Given the description of an element on the screen output the (x, y) to click on. 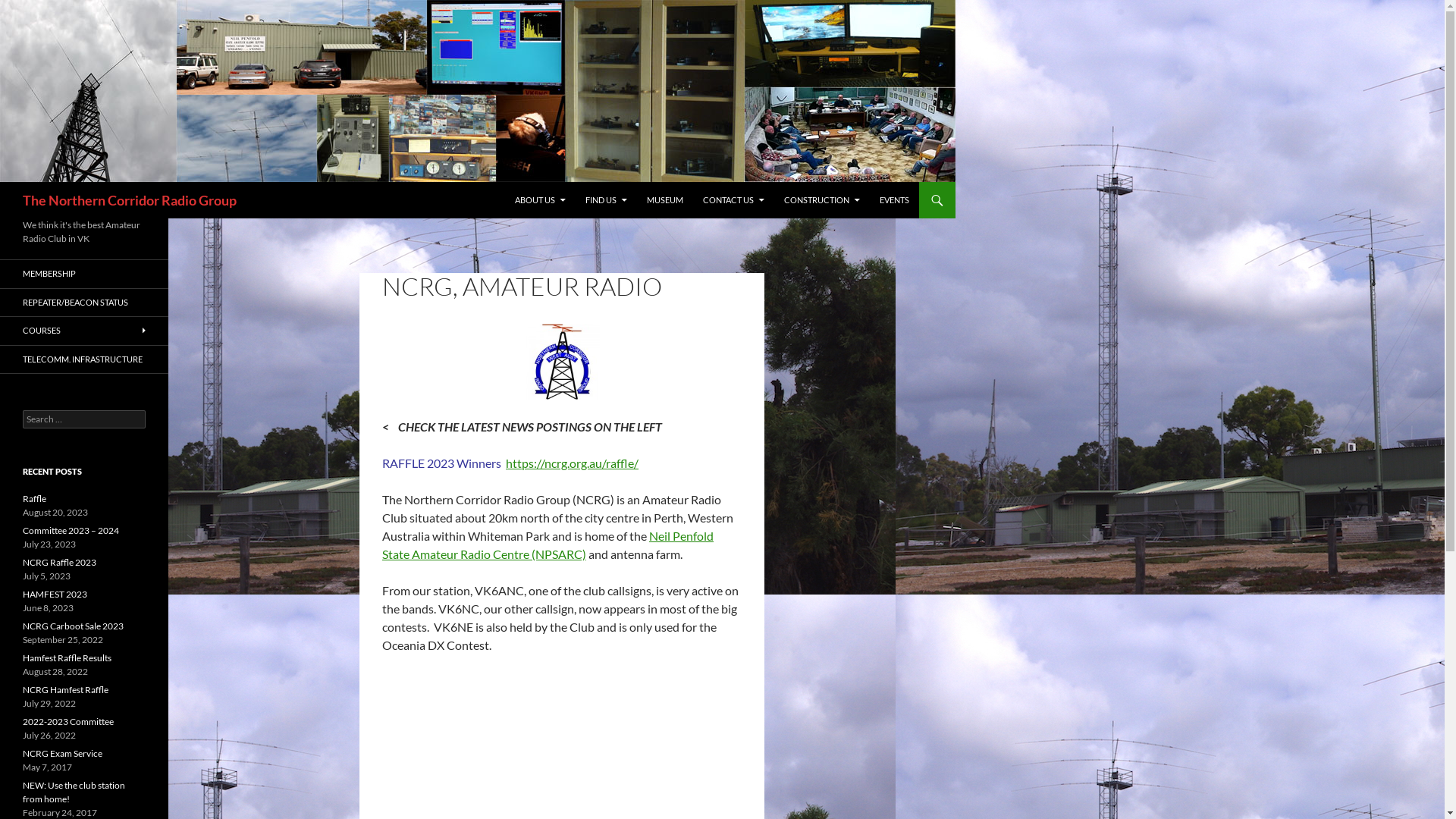
CONSTRUCTION Element type: text (822, 200)
COURSES Element type: text (84, 330)
MUSEUM Element type: text (664, 200)
NCRG Exam Service Element type: text (62, 753)
MEMBERSHIP Element type: text (84, 274)
HAMFEST 2023 Element type: text (54, 593)
2022-2023 Committee Element type: text (67, 721)
NEW: Use the club station from home! Element type: text (73, 791)
Hamfest Raffle Results Element type: text (66, 657)
Search Element type: text (3, 181)
FIND US Element type: text (606, 200)
The Northern Corridor Radio Group Element type: text (129, 200)
EVENTS Element type: text (894, 200)
Search Element type: text (29, 9)
NCRG Hamfest Raffle Element type: text (65, 689)
Neil Penfold State Amateur Radio Centre (NPSARC) Element type: text (547, 544)
REPEATER/BEACON STATUS Element type: text (84, 302)
NCRG Carboot Sale 2023 Element type: text (72, 625)
ABOUT US Element type: text (539, 200)
https://ncrg.org.au/raffle/ Element type: text (571, 462)
NCRG Raffle 2023 Element type: text (59, 561)
SKIP TO CONTENT Element type: text (514, 181)
Raffle Element type: text (34, 498)
CONTACT US Element type: text (733, 200)
TELECOMM. INFRASTRUCTURE Element type: text (84, 359)
